Given the description of an element on the screen output the (x, y) to click on. 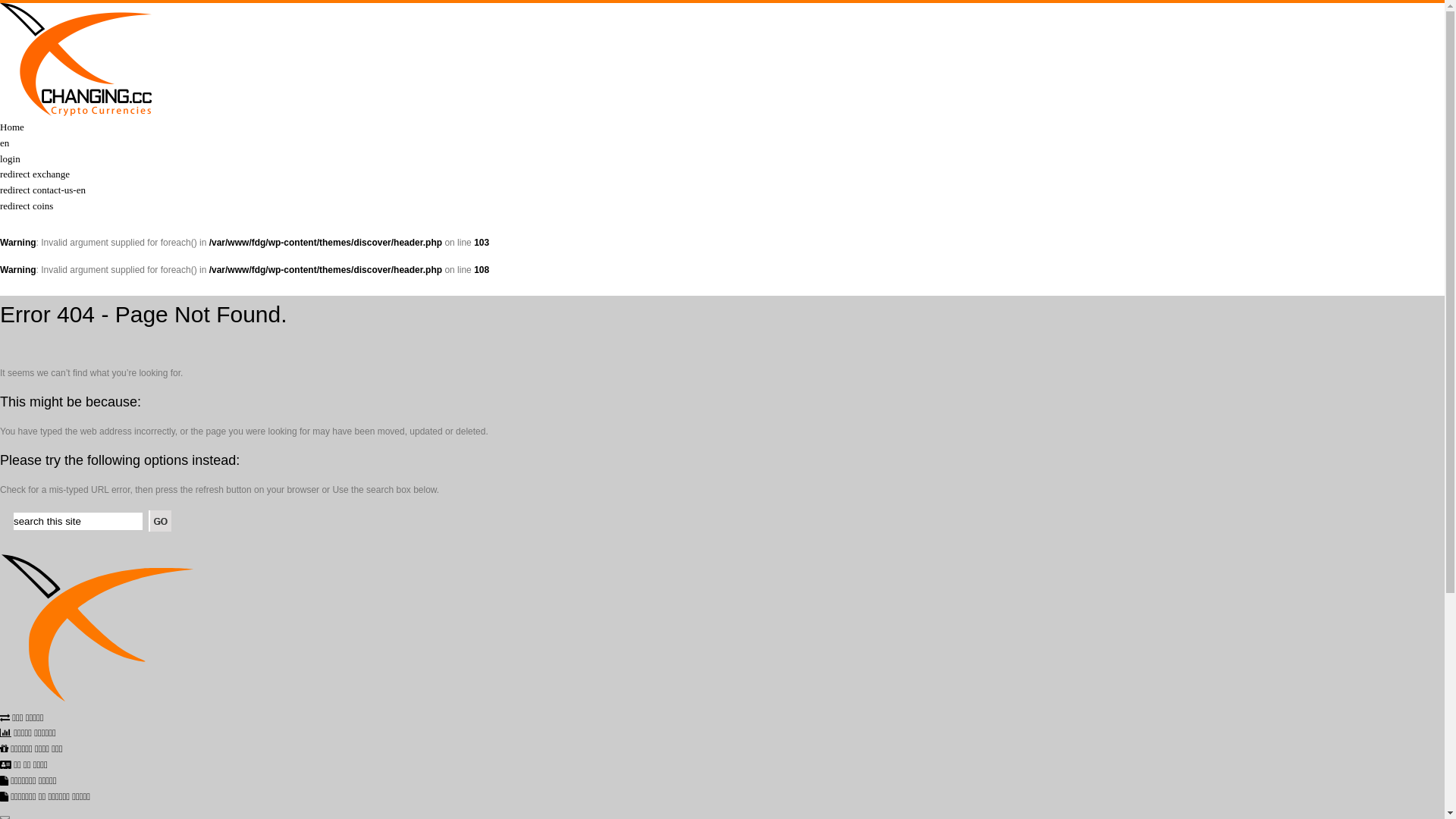
en Element type: text (4, 142)
login Element type: text (10, 158)
redirect exchange Element type: text (34, 173)
redirect contact-us-en Element type: text (42, 189)
Exchanging Element type: hover (75, 112)
Home Element type: text (12, 126)
redirect coins Element type: text (26, 205)
